Given the description of an element on the screen output the (x, y) to click on. 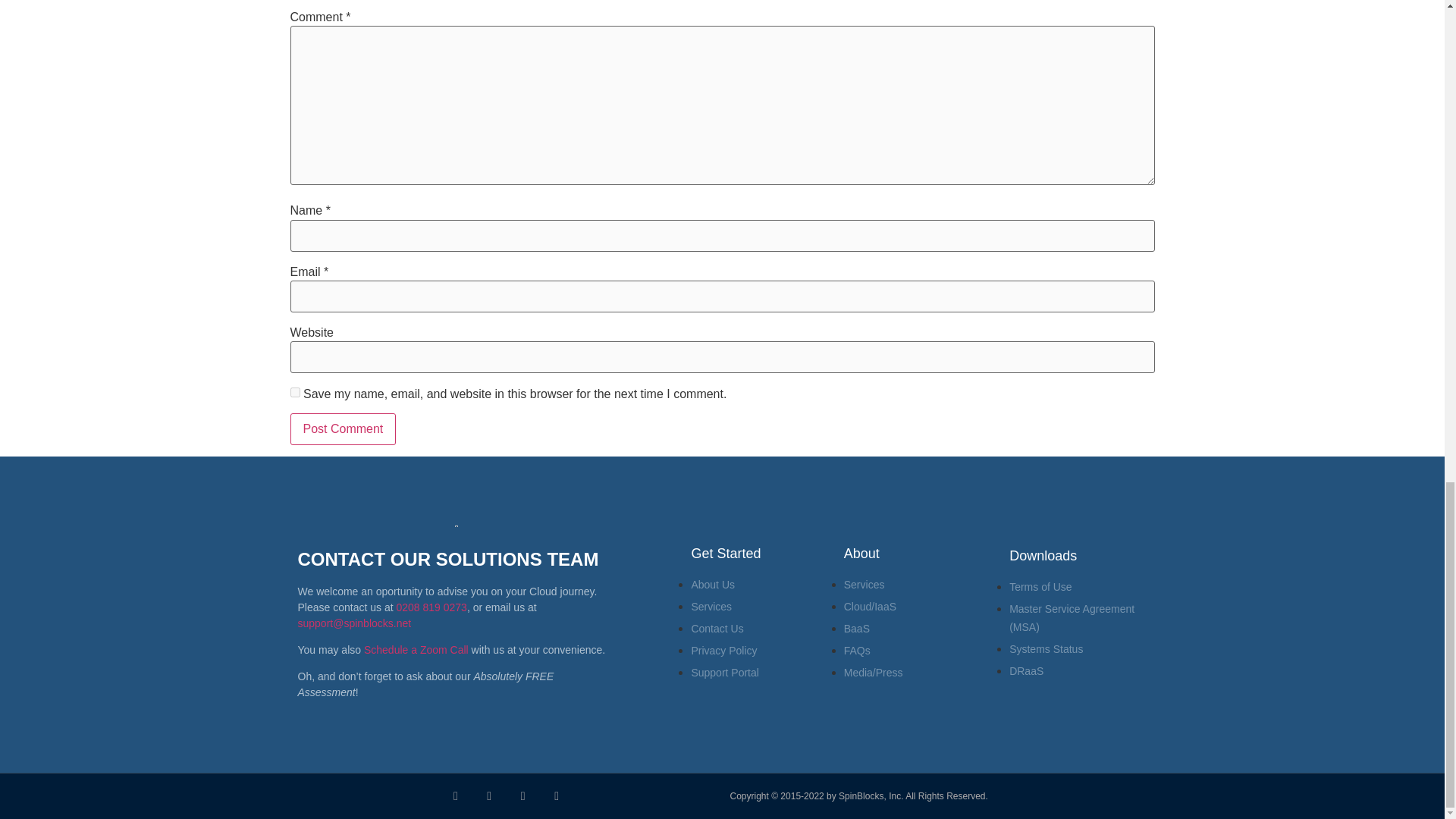
Post Comment (342, 429)
About Us (712, 584)
DRaaS (1026, 671)
FAQs (857, 650)
yes (294, 392)
Services (711, 606)
Privacy Policy (723, 650)
Services (864, 584)
Support Portal (724, 672)
BaaS (856, 628)
